Given the description of an element on the screen output the (x, y) to click on. 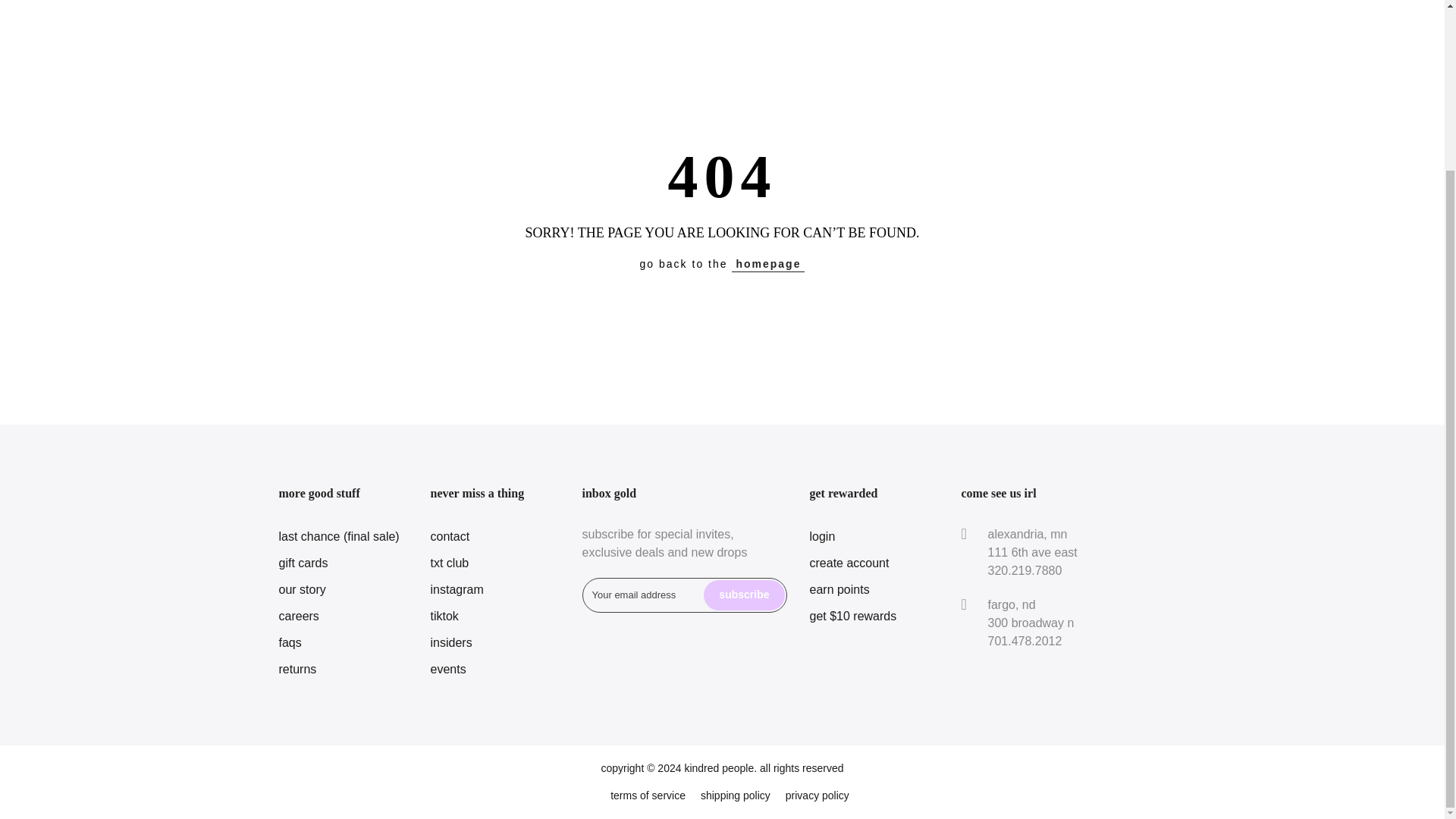
gift cards (304, 562)
homepage (768, 263)
login (822, 535)
shipping policy (735, 795)
careers (298, 615)
create account (849, 562)
privacy policy (817, 795)
earn points (839, 589)
tiktok (444, 615)
txt club (449, 562)
